Given the description of an element on the screen output the (x, y) to click on. 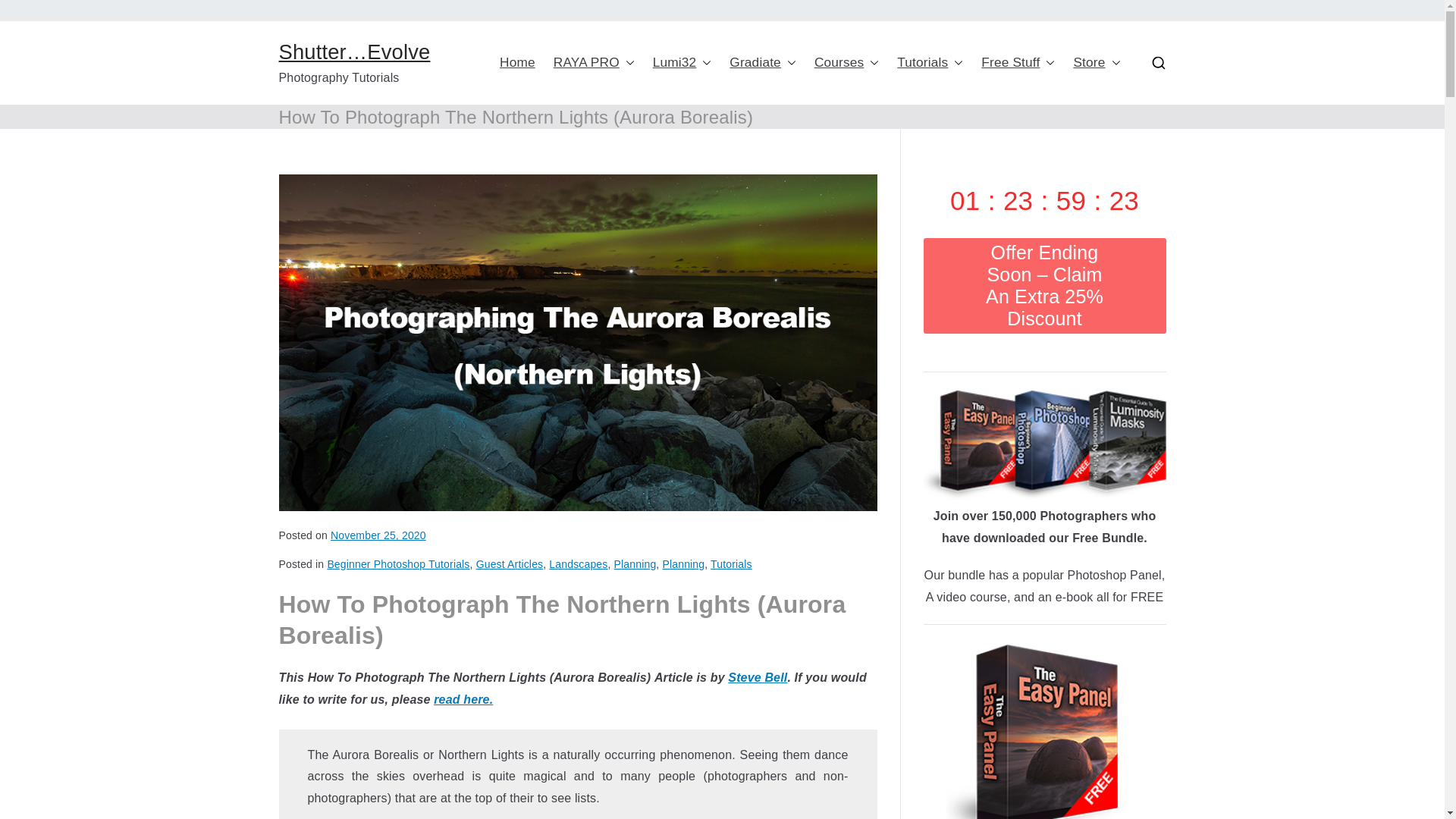
Lumi32 (681, 62)
Home (517, 62)
RAYA PRO (593, 62)
Gradiate (762, 62)
Free Stuff (1017, 62)
Courses (846, 62)
Tutorials (929, 62)
